Given the description of an element on the screen output the (x, y) to click on. 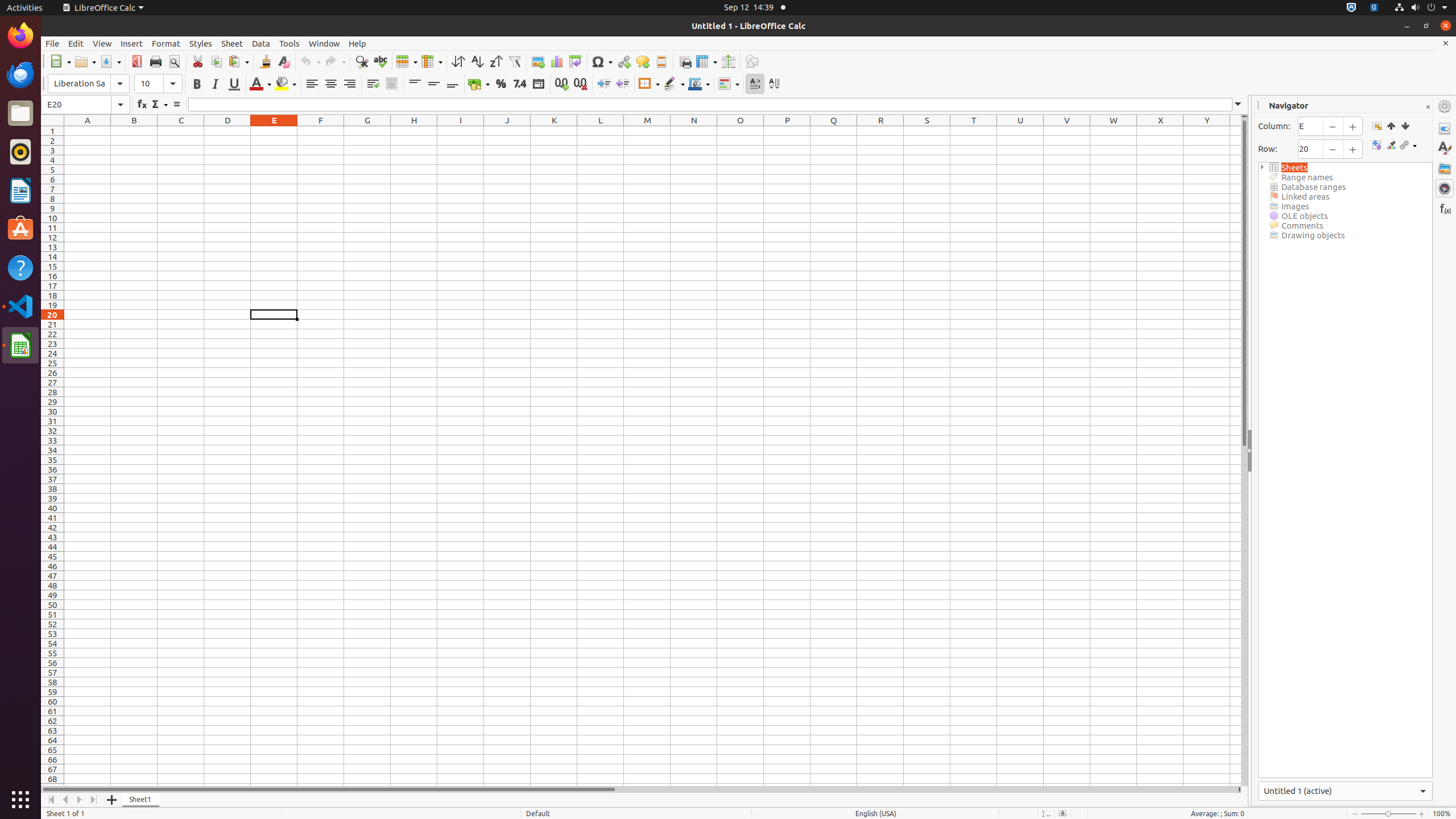
O1 Element type: table-cell (740, 130)
Print Area Element type: push-button (684, 61)
Sheet Sheet1 Element type: table (652, 456)
Thunderbird Mail Element type: push-button (20, 74)
Symbol Element type: push-button (601, 61)
